Given the description of an element on the screen output the (x, y) to click on. 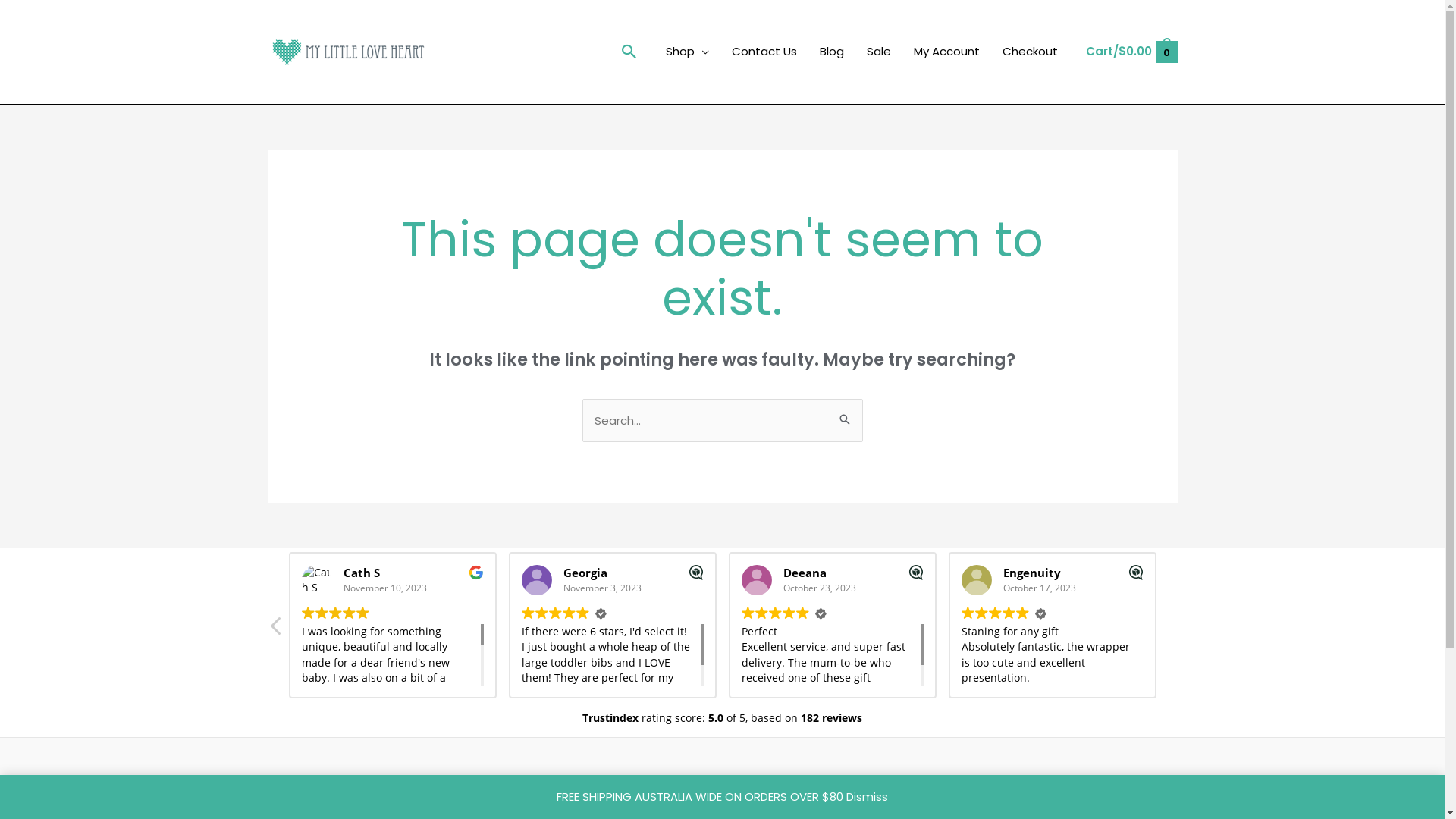
Sale Element type: text (878, 51)
Contact Us Element type: text (764, 51)
Search Element type: text (845, 412)
Shop Element type: text (687, 51)
Checkout Element type: text (1030, 51)
Designer Profile Element type: text (311, 780)
Contact Us Element type: text (300, 801)
My Account Element type: text (946, 51)
Search Element type: text (629, 51)
17 Wickham Street, East Perth, WA Element type: text (603, 792)
Cart/$0.00
0 Element type: text (1130, 51)
Blog Element type: text (831, 51)
Dismiss Element type: text (867, 796)
